Given the description of an element on the screen output the (x, y) to click on. 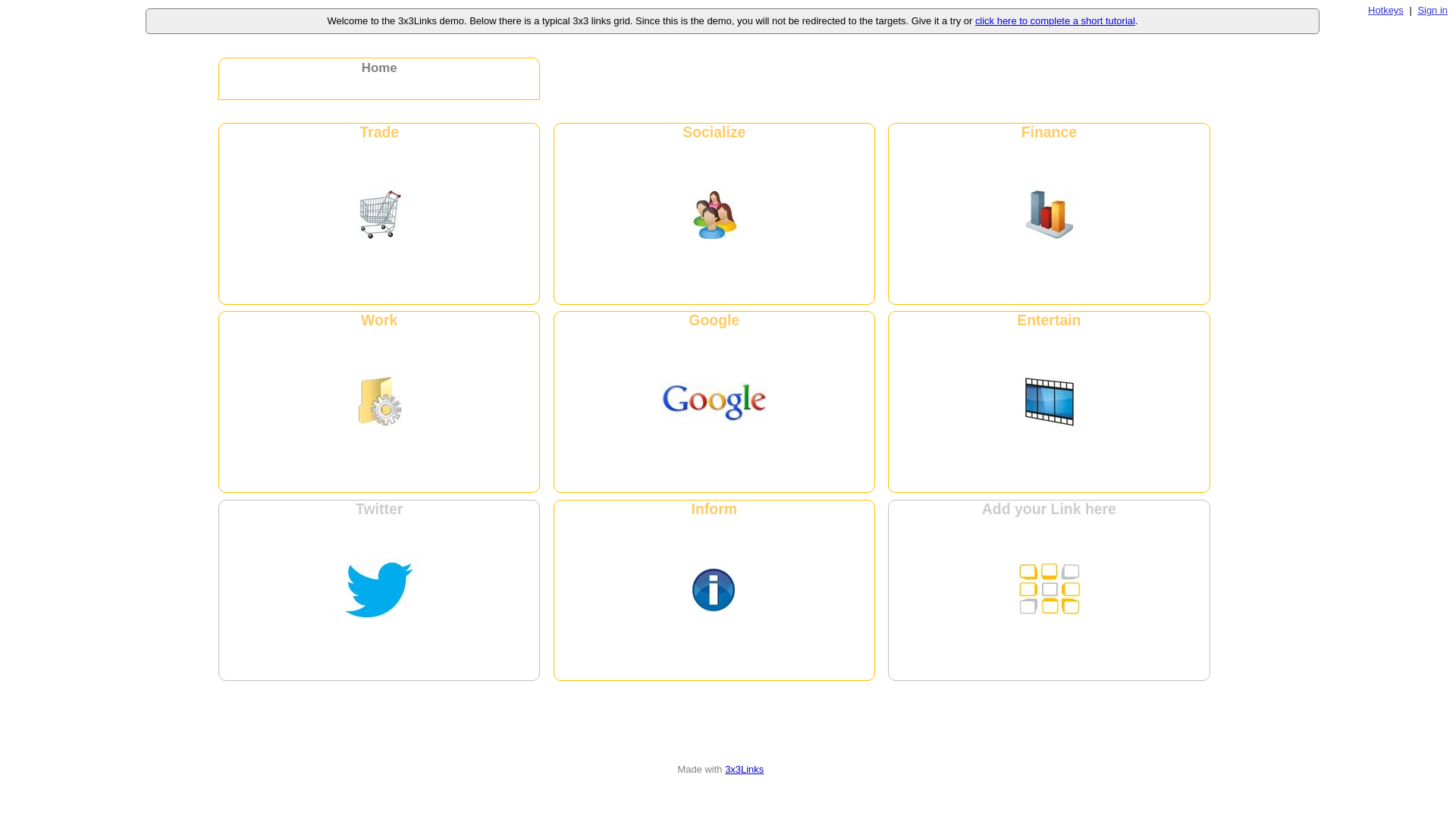
Add your Link here Element type: text (1048, 590)
Hotkeys Element type: text (1385, 9)
Sign in Element type: text (1432, 9)
Google Element type: text (714, 401)
click here to complete a short tutorial Element type: text (1055, 20)
Socialize Element type: text (714, 213)
Trade Element type: text (378, 213)
3x3Links Element type: text (743, 769)
Finance Element type: text (1048, 213)
Twitter Element type: text (378, 590)
Entertain Element type: text (1048, 401)
Inform Element type: text (714, 590)
Work Element type: text (378, 401)
